Given the description of an element on the screen output the (x, y) to click on. 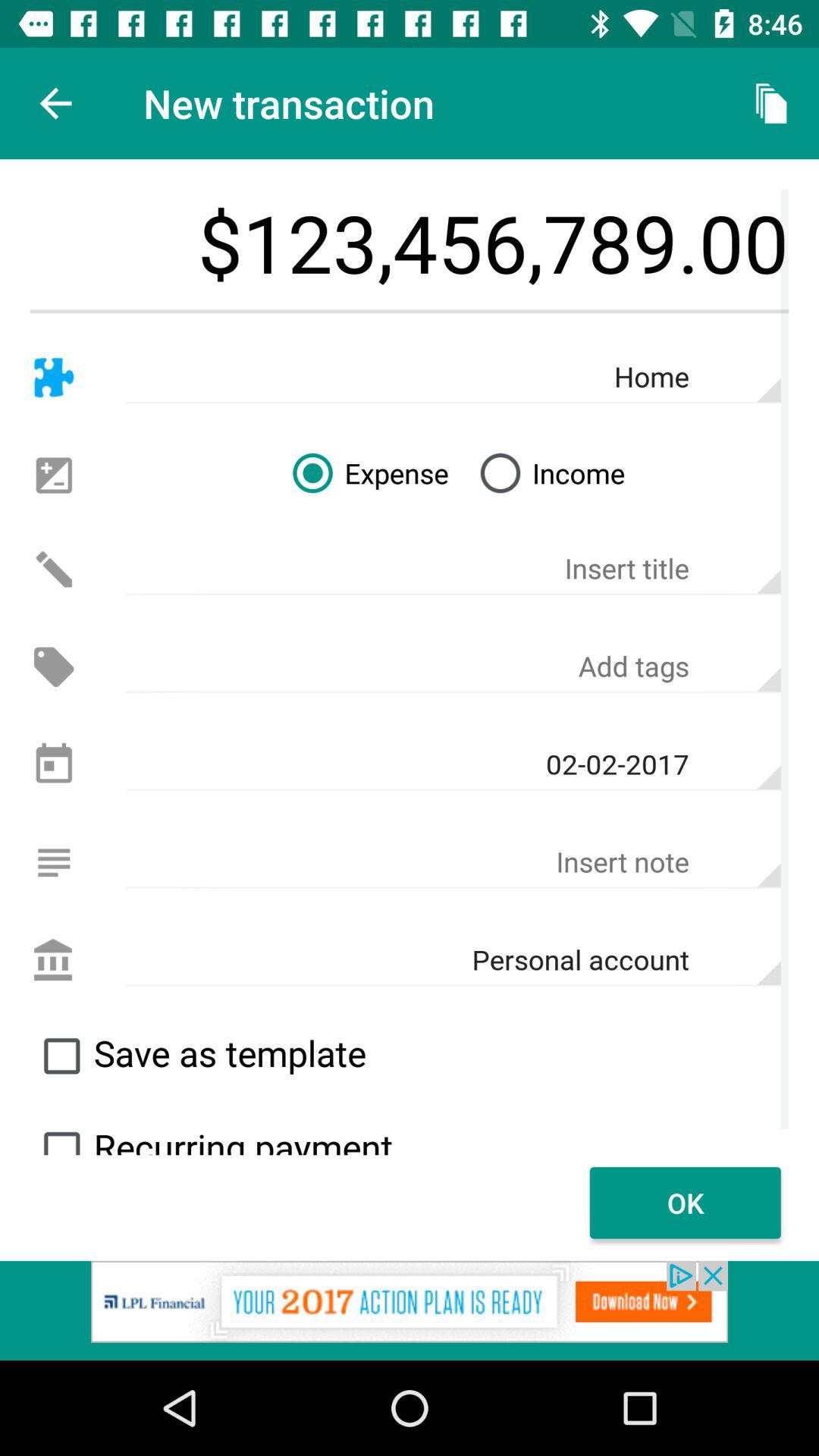
insert mode (53, 862)
